Given the description of an element on the screen output the (x, y) to click on. 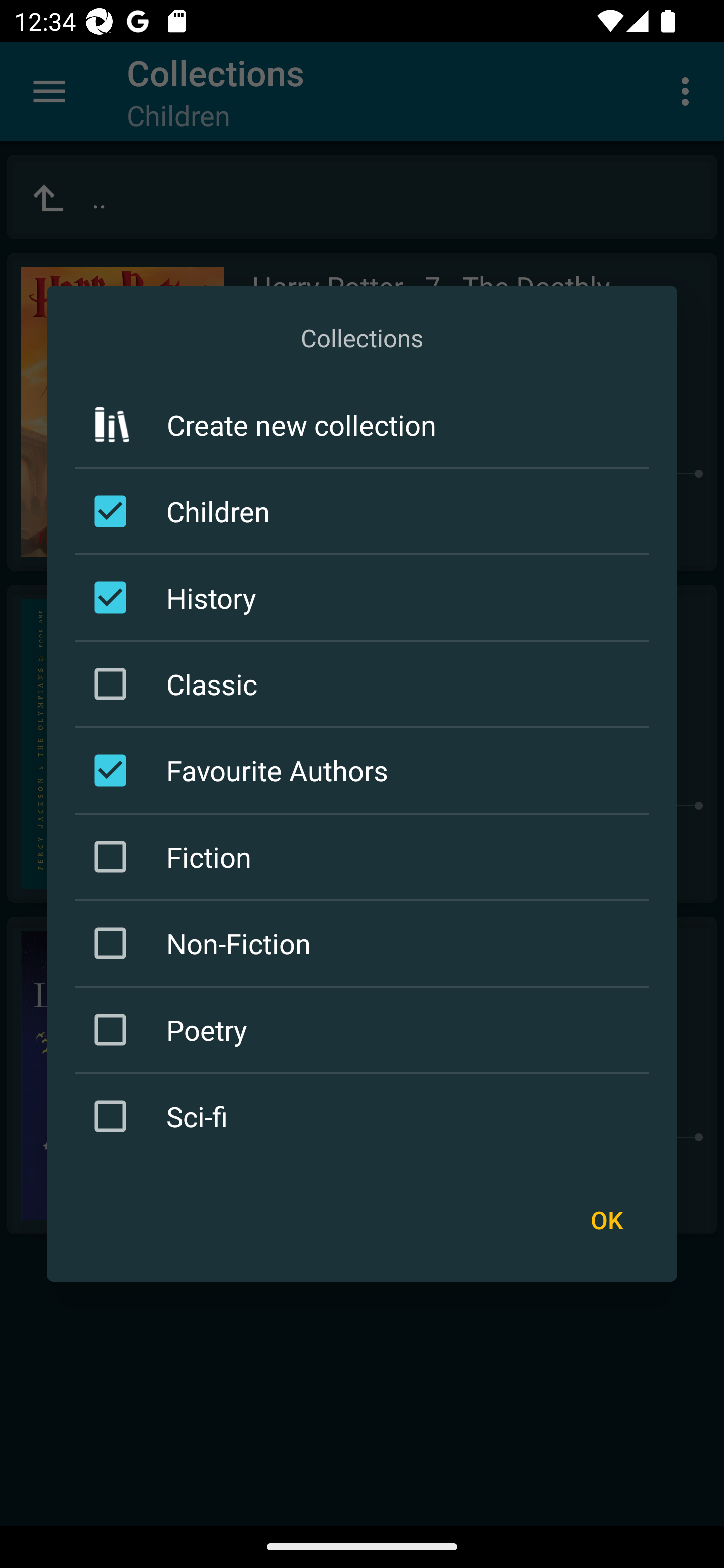
Create new collection (361, 424)
Children (365, 510)
History (365, 597)
Classic (365, 683)
Favourite Authors (365, 769)
Fiction (365, 856)
Non-Fiction (365, 943)
Poetry (365, 1029)
Sci-fi (365, 1116)
OK (606, 1219)
